Given the description of an element on the screen output the (x, y) to click on. 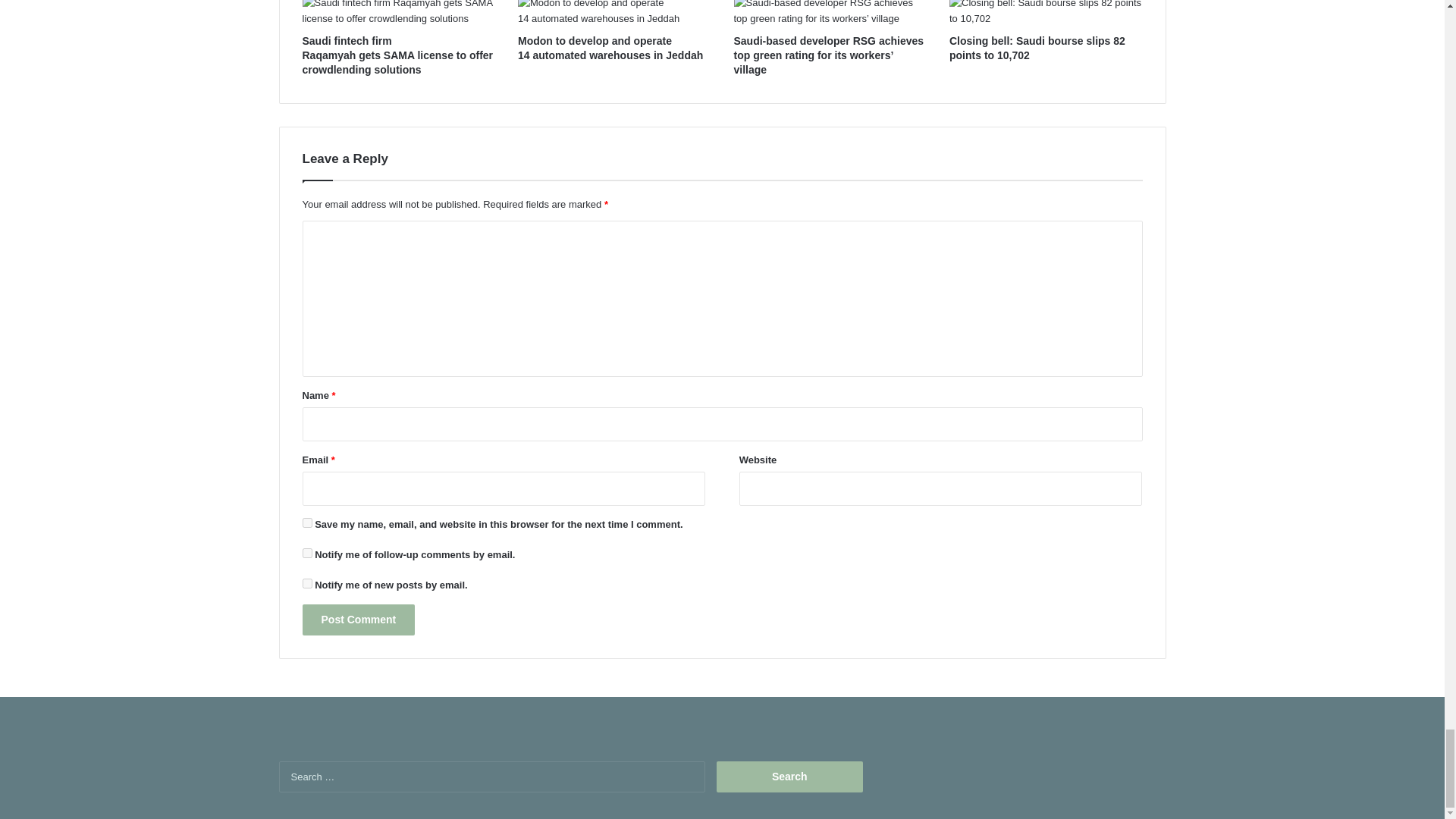
Post Comment (357, 619)
Search (789, 776)
subscribe (306, 583)
subscribe (306, 552)
yes (306, 522)
Search (789, 776)
